Given the description of an element on the screen output the (x, y) to click on. 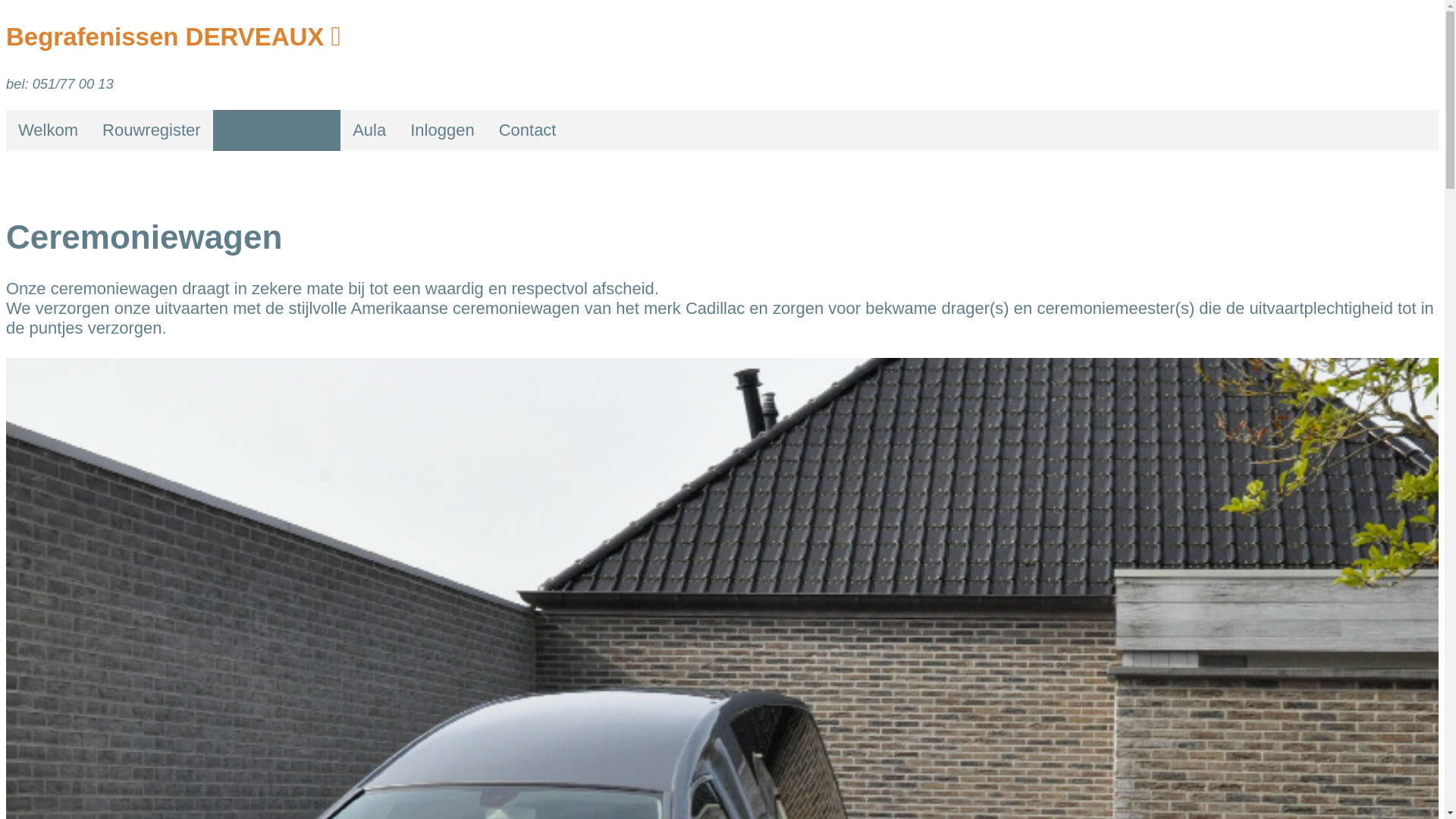
Contact Element type: text (527, 129)
Aula Element type: text (369, 129)
Welkom Element type: text (48, 129)
Rouwregister Element type: text (151, 129)
Rouwcenter Element type: text (277, 129)
Inloggen Element type: text (442, 129)
